Given the description of an element on the screen output the (x, y) to click on. 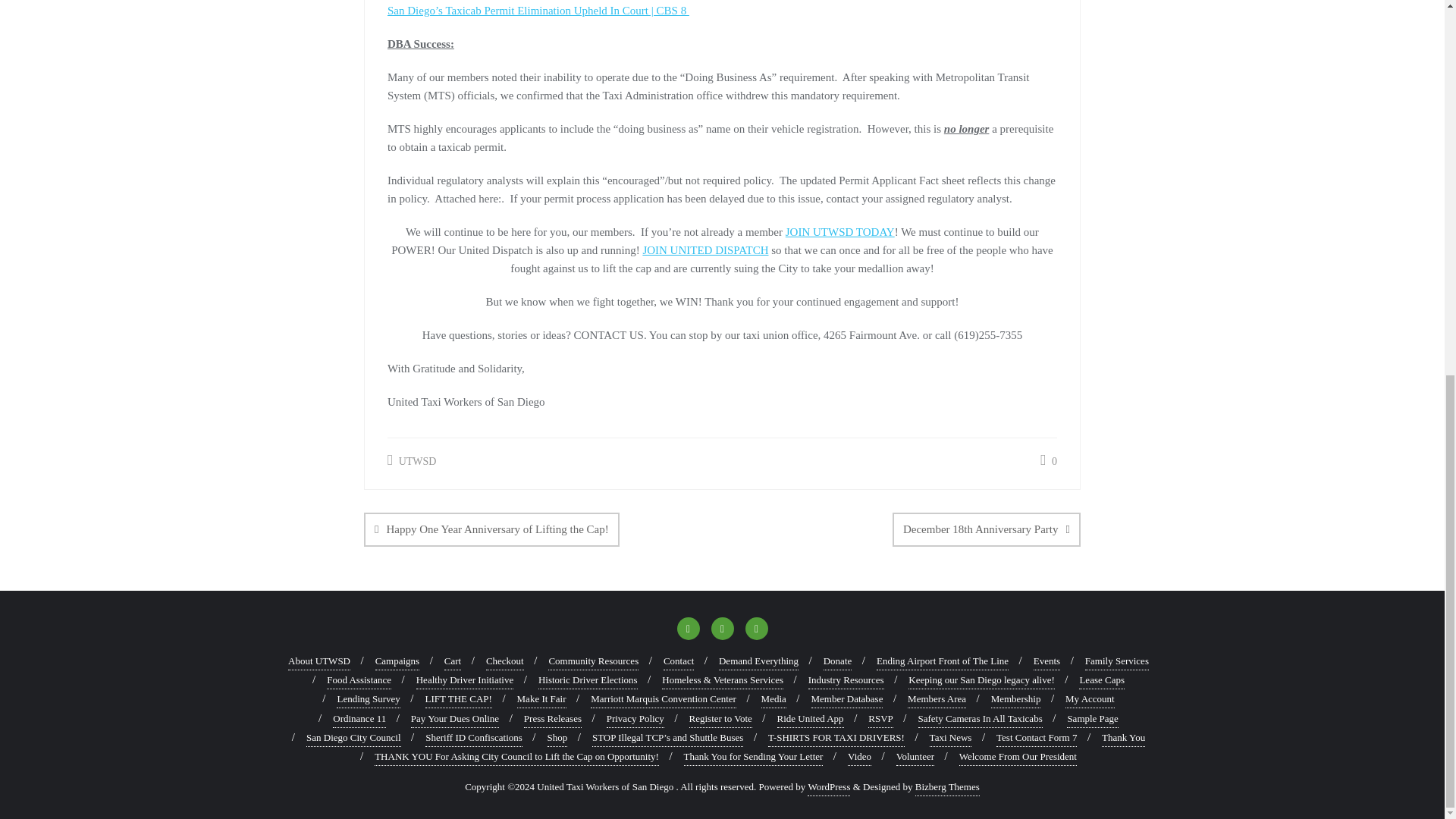
JOIN UNITED DISPATCH (705, 250)
UTWSD (411, 461)
Happy One Year Anniversary of Lifting the Cap! (492, 529)
JOIN UTWSD TODAY (840, 232)
December 18th Anniversary Party (986, 529)
